Given the description of an element on the screen output the (x, y) to click on. 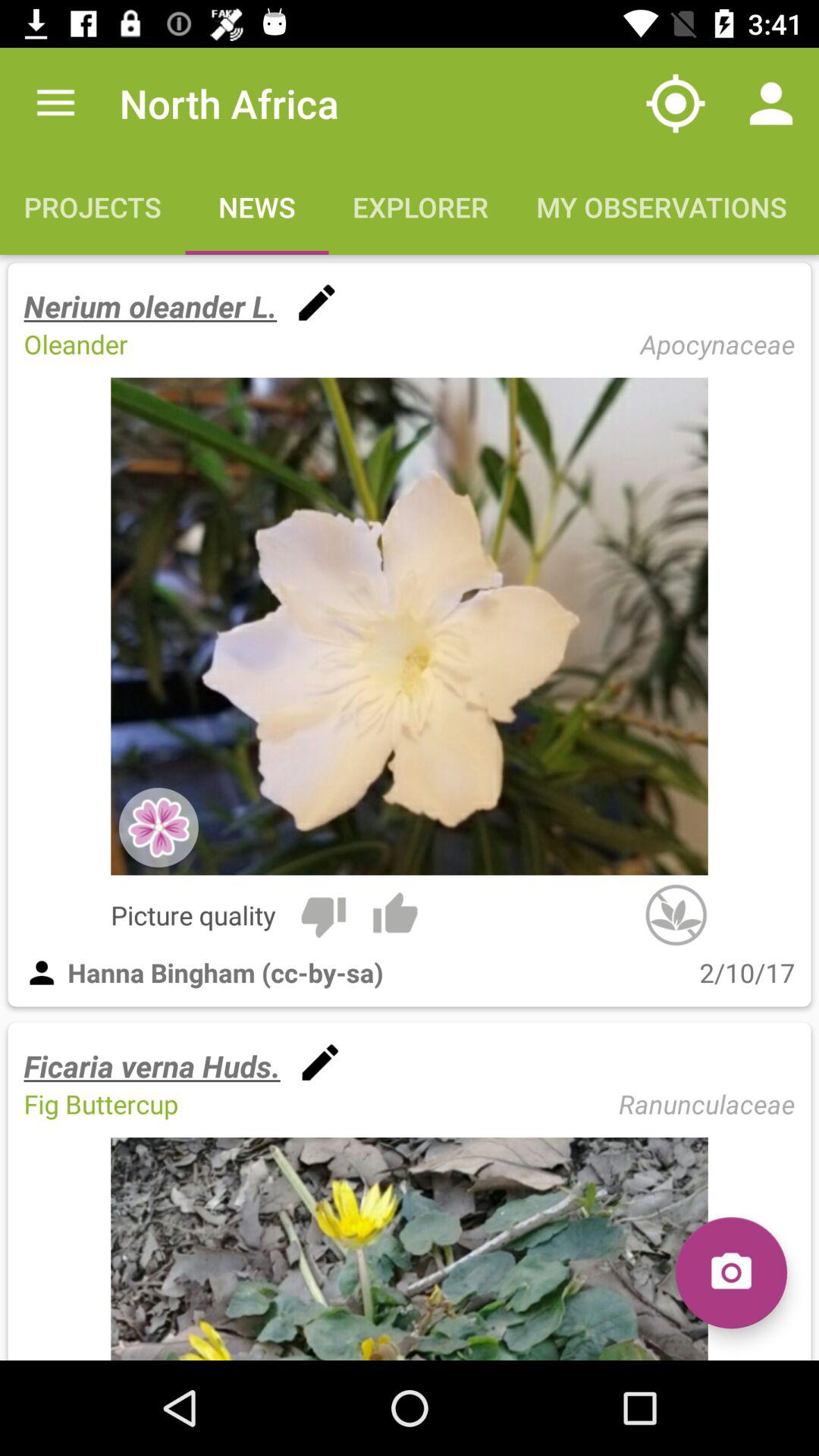
choose item above my observations (675, 103)
